Given the description of an element on the screen output the (x, y) to click on. 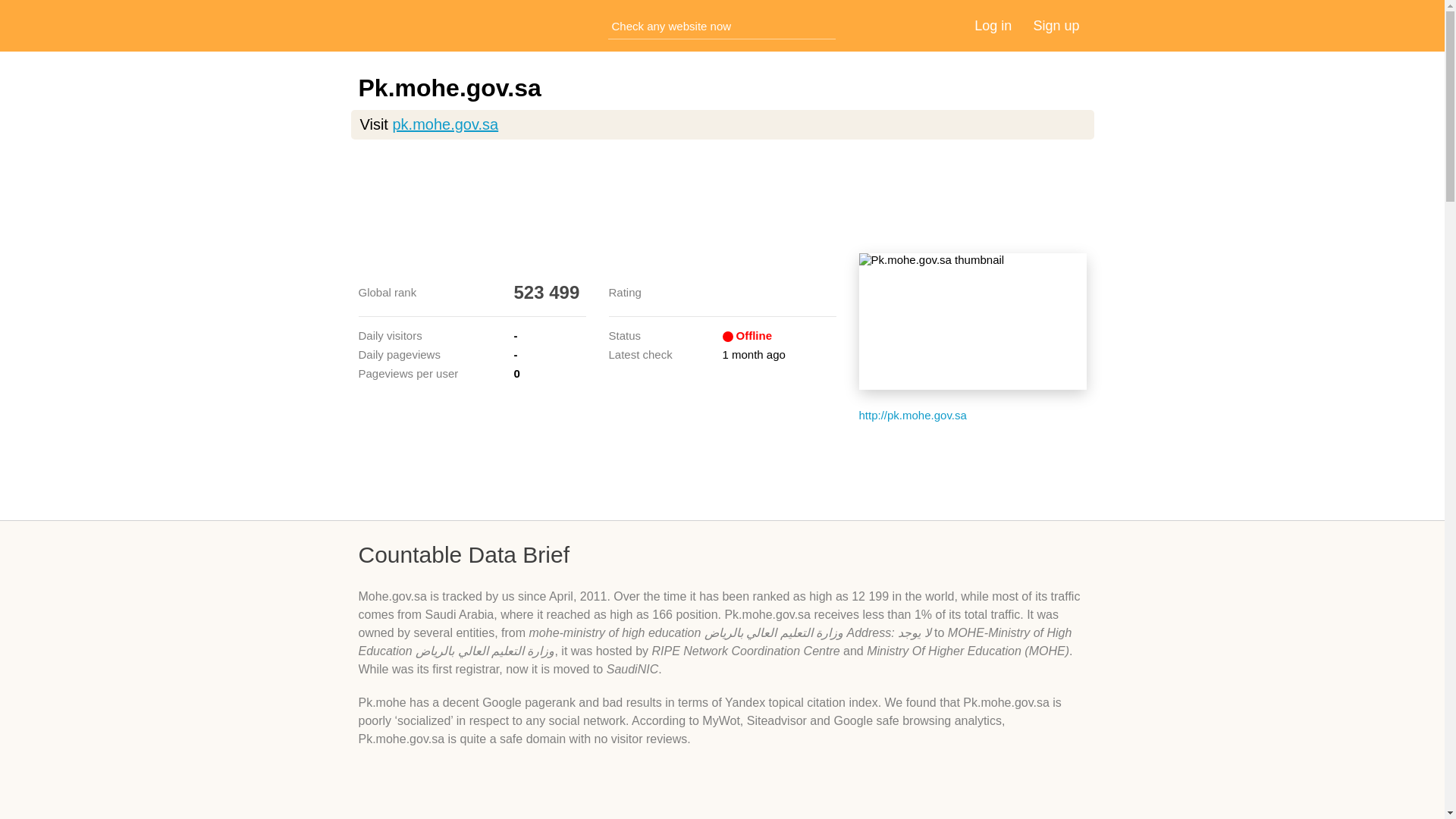
Log in (992, 25)
Sign up (1056, 25)
Pk.mohe.gov.sa thumbnail (972, 321)
pk.mohe.gov.sa (444, 124)
